Given the description of an element on the screen output the (x, y) to click on. 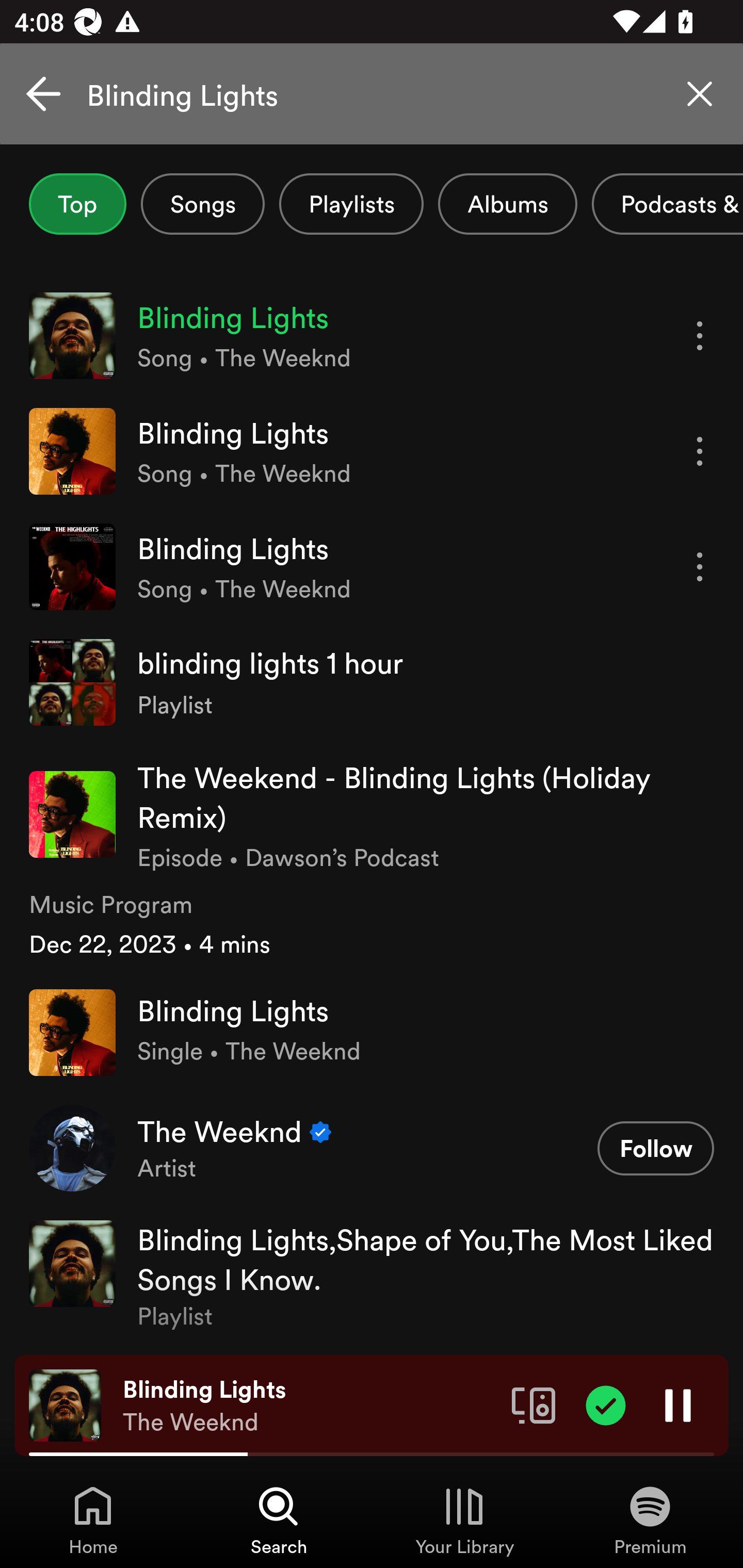
Blinding Lights (371, 93)
Cancel (43, 93)
Clear search query (699, 93)
Top (77, 203)
Songs (202, 203)
Playlists (351, 203)
Albums (507, 203)
Podcasts & Shows (667, 203)
More options for song Blinding Lights (699, 336)
More options for song Blinding Lights (699, 450)
More options for song Blinding Lights (699, 566)
blinding lights 1 hour Playlist (371, 682)
Blinding Lights Single • The Weeknd (371, 1032)
The Weeknd Verified Artist Follow Follow (371, 1147)
Follow (655, 1148)
Blinding Lights The Weeknd (309, 1405)
The cover art of the currently playing track (64, 1404)
Connect to a device. Opens the devices menu (533, 1404)
Item added (605, 1404)
Pause (677, 1404)
Home, Tab 1 of 4 Home Home (92, 1519)
Search, Tab 2 of 4 Search Search (278, 1519)
Your Library, Tab 3 of 4 Your Library Your Library (464, 1519)
Premium, Tab 4 of 4 Premium Premium (650, 1519)
